Given the description of an element on the screen output the (x, y) to click on. 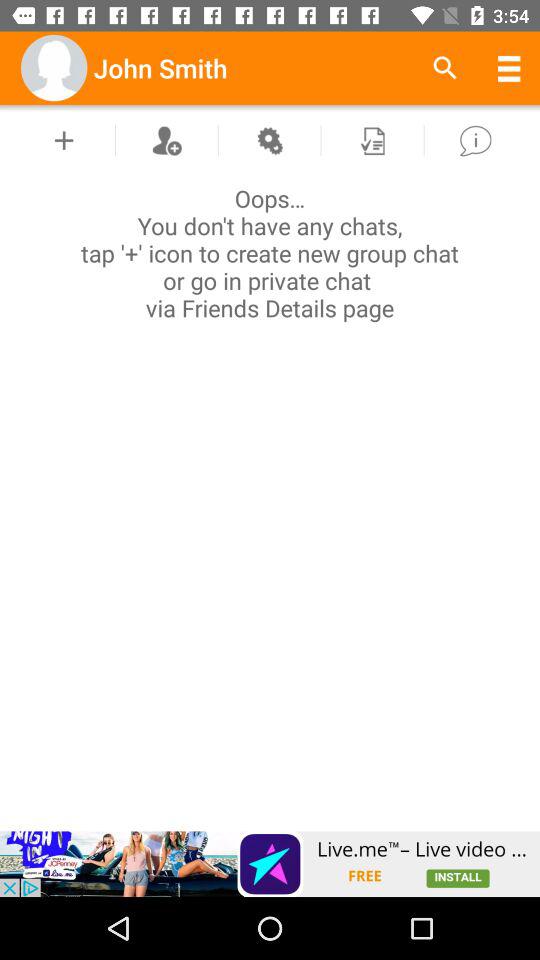
add contact (166, 140)
